Given the description of an element on the screen output the (x, y) to click on. 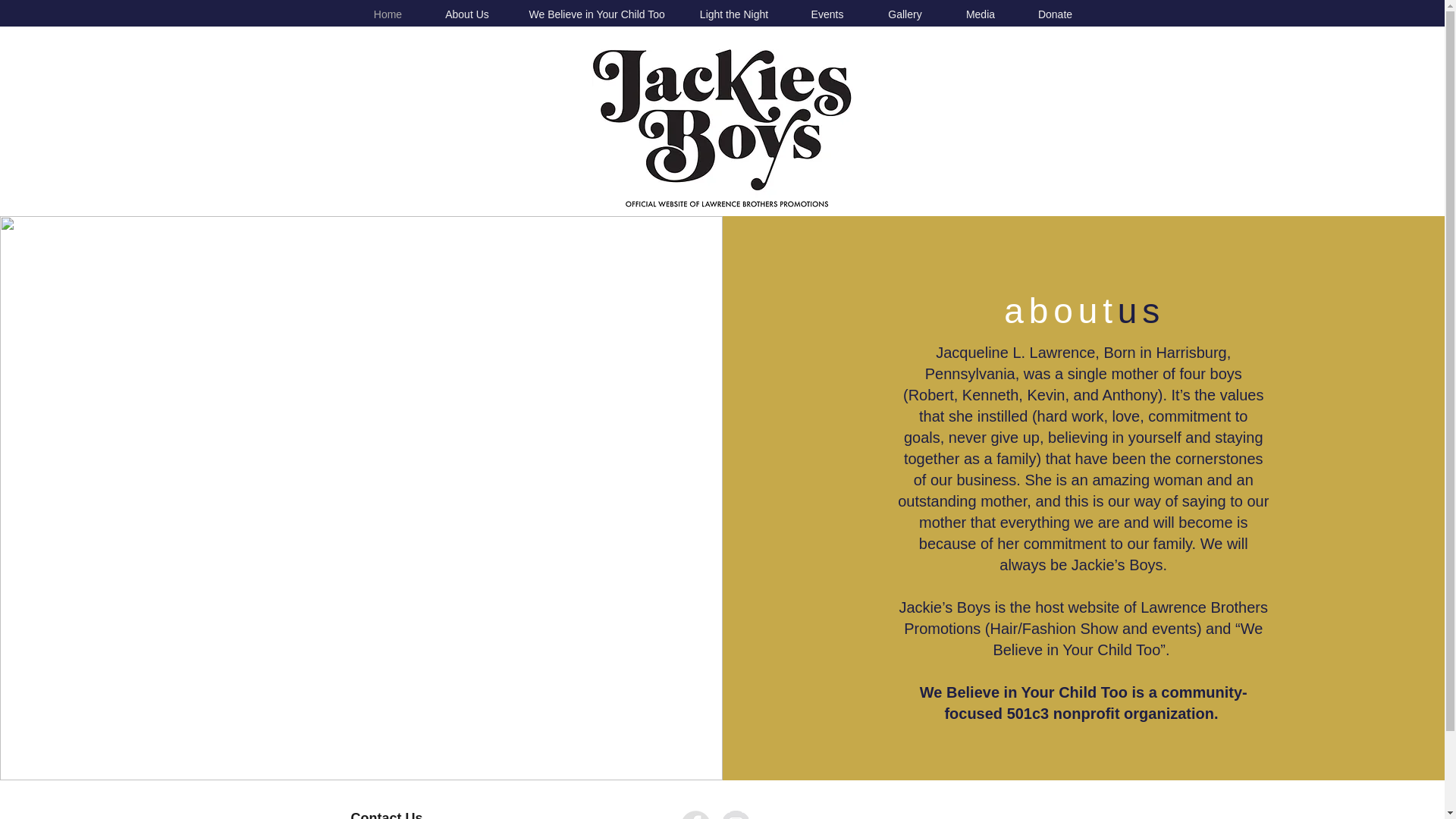
Home (388, 14)
Donate (1054, 14)
Media (980, 14)
Gallery (905, 14)
About Us (468, 14)
Events (826, 14)
We Believe in Your Child Too (593, 14)
Light the Night (734, 14)
